Given the description of an element on the screen output the (x, y) to click on. 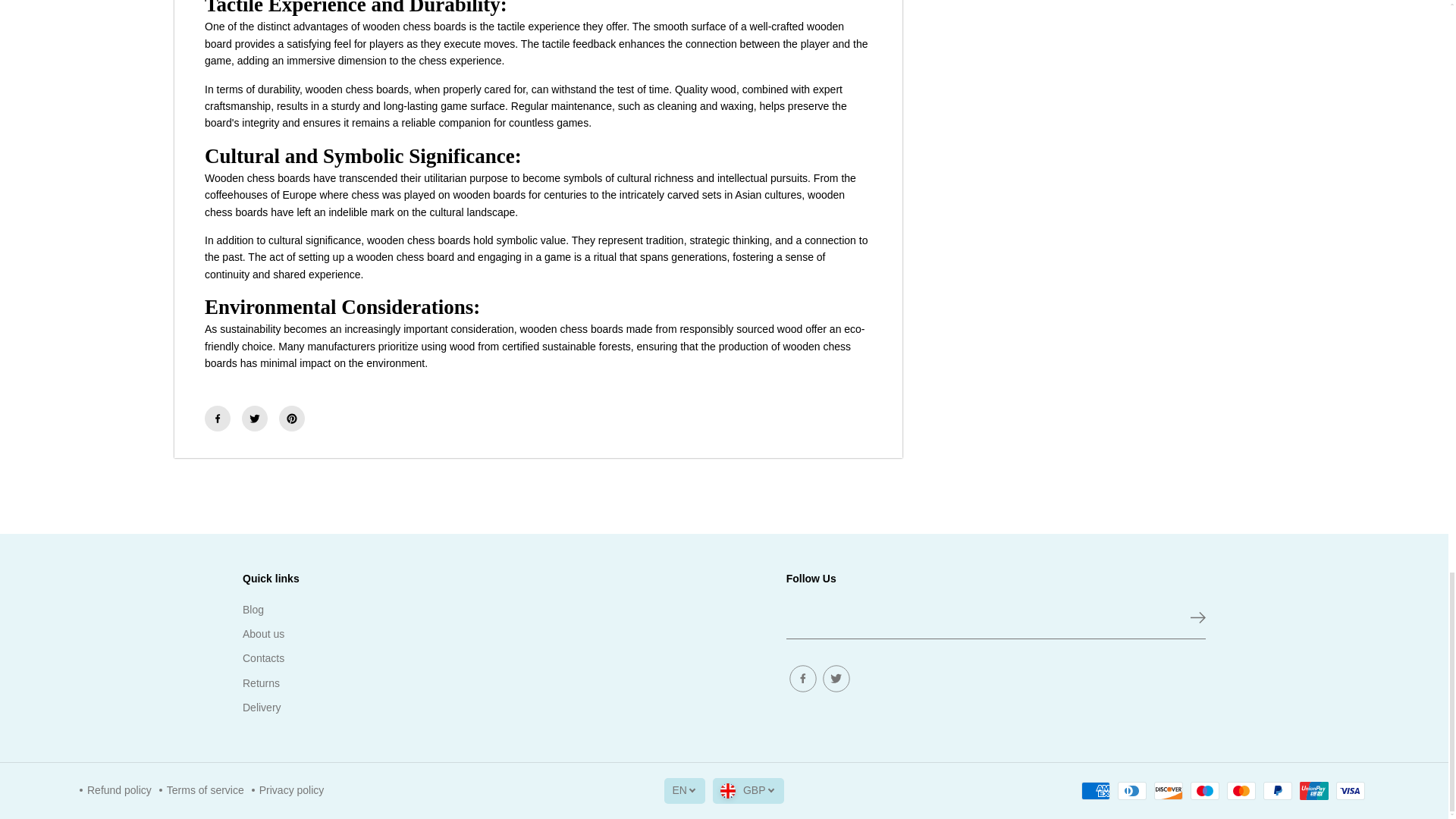
Diners Club (1132, 791)
Mastercard (1241, 791)
Maestro (1205, 791)
PayPal (1277, 791)
American Express (1095, 791)
Twitter (254, 418)
Union Pay (1313, 791)
Discover (1168, 791)
Visa (1350, 791)
Pinterest (291, 418)
